Given the description of an element on the screen output the (x, y) to click on. 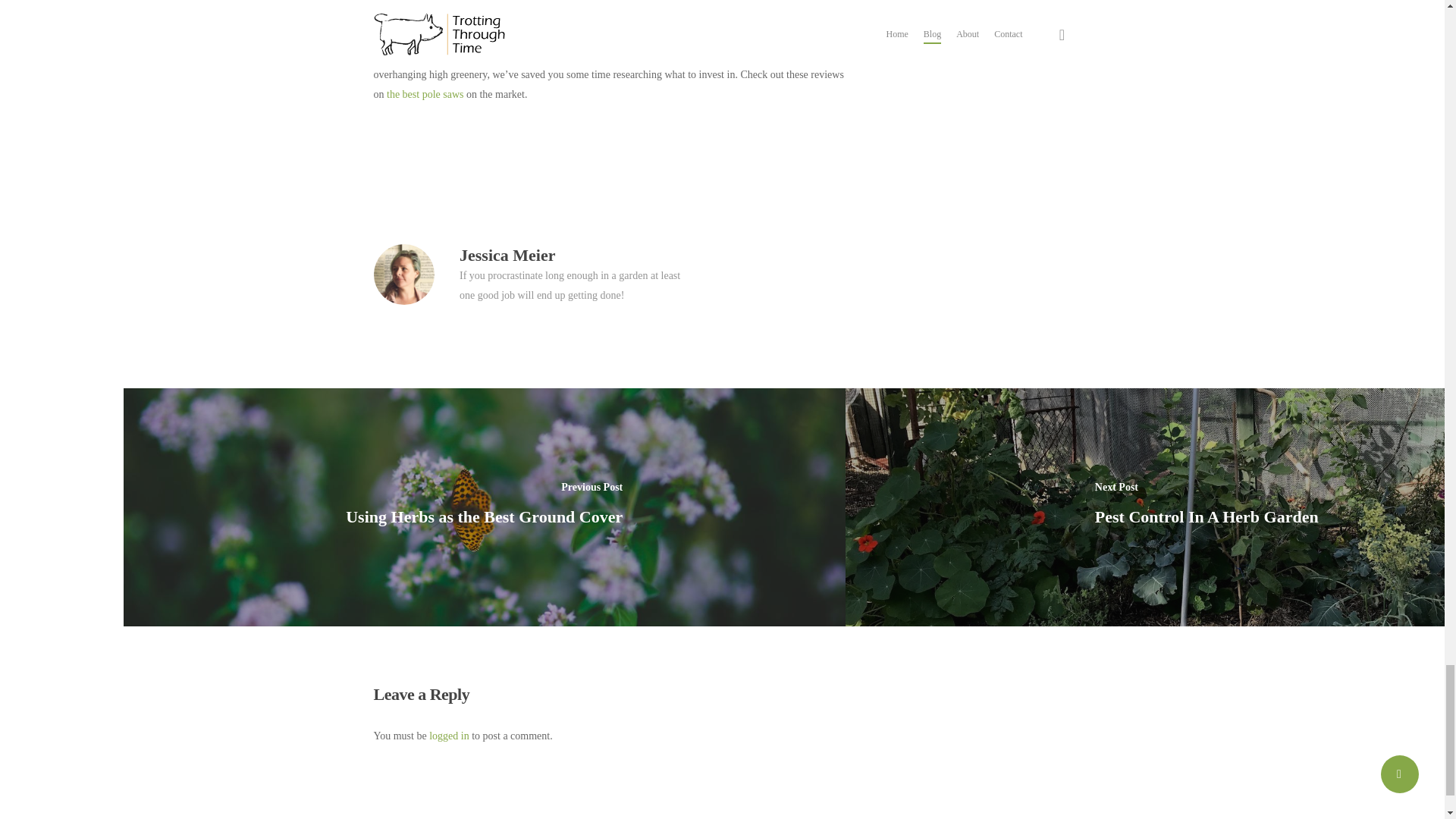
Jessica Meier (507, 254)
the best pole saws (425, 93)
logged in (448, 736)
